Given the description of an element on the screen output the (x, y) to click on. 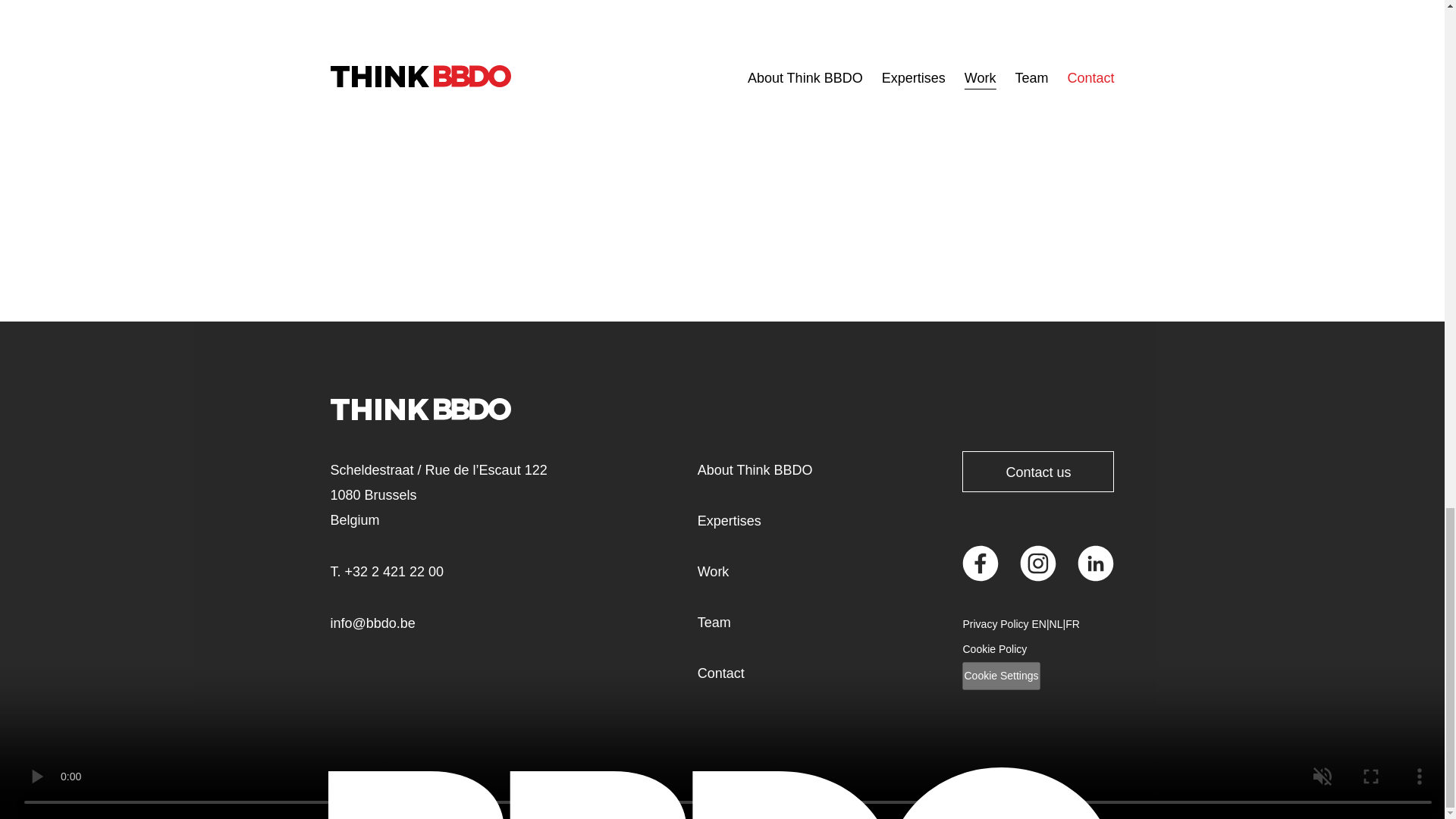
Work (713, 571)
Cookie Settings (1000, 675)
Expertises (729, 520)
Contact us (1037, 471)
About Think BBDO (754, 470)
Cookie Policy (994, 649)
Contact (720, 673)
Team (713, 622)
